Given the description of an element on the screen output the (x, y) to click on. 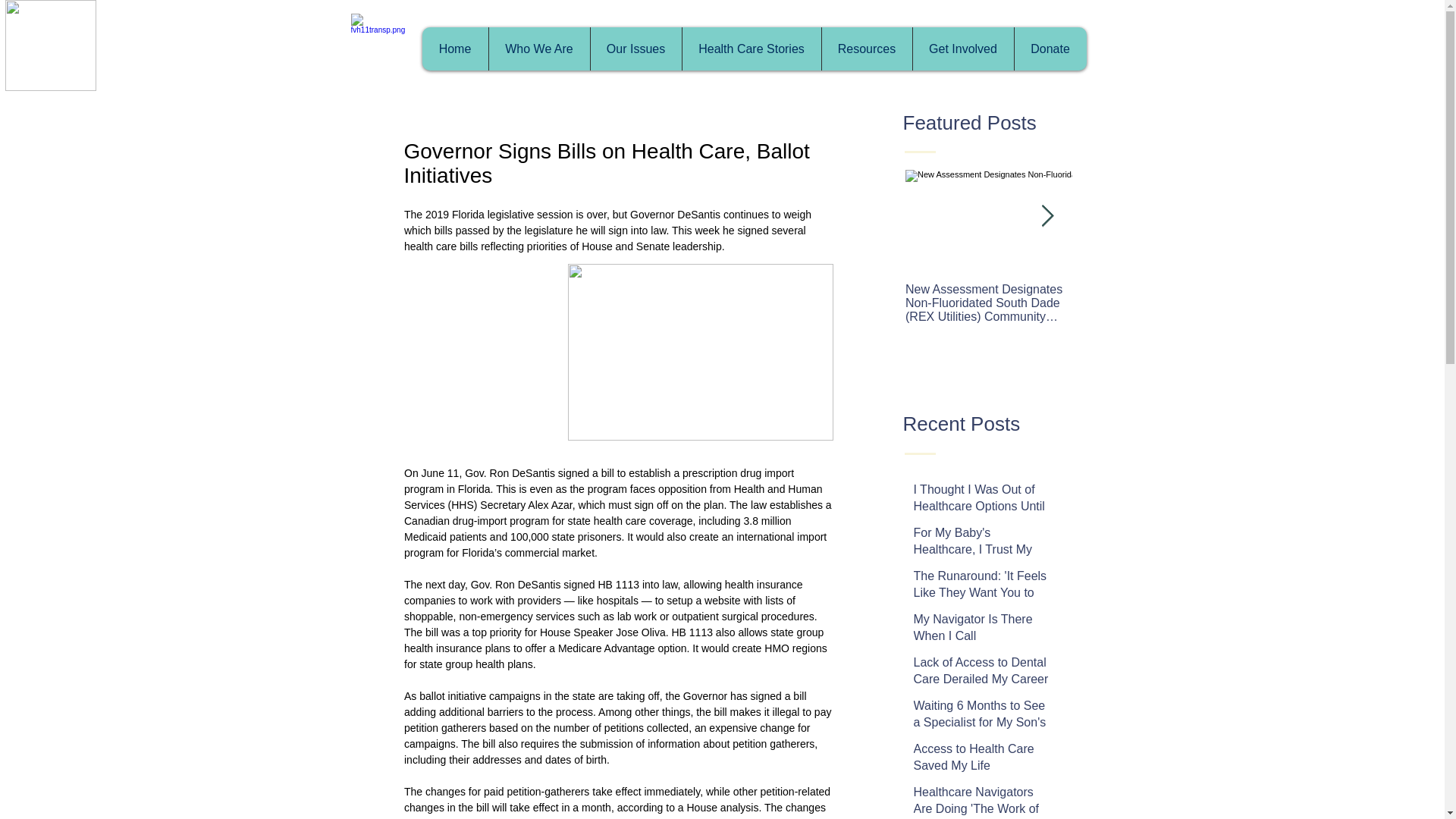
Home (454, 48)
Lack of Access to Dental Care Derailed My Career (981, 674)
For My Baby's Healthcare, I Trust My Navigator (981, 552)
Health Care Stories (751, 48)
Our Issues (635, 48)
The Runaround: 'It Feels Like They Want You to Give Up.' (981, 596)
Get Involved (962, 48)
Access to Health Care Saved My Life (981, 761)
